Given the description of an element on the screen output the (x, y) to click on. 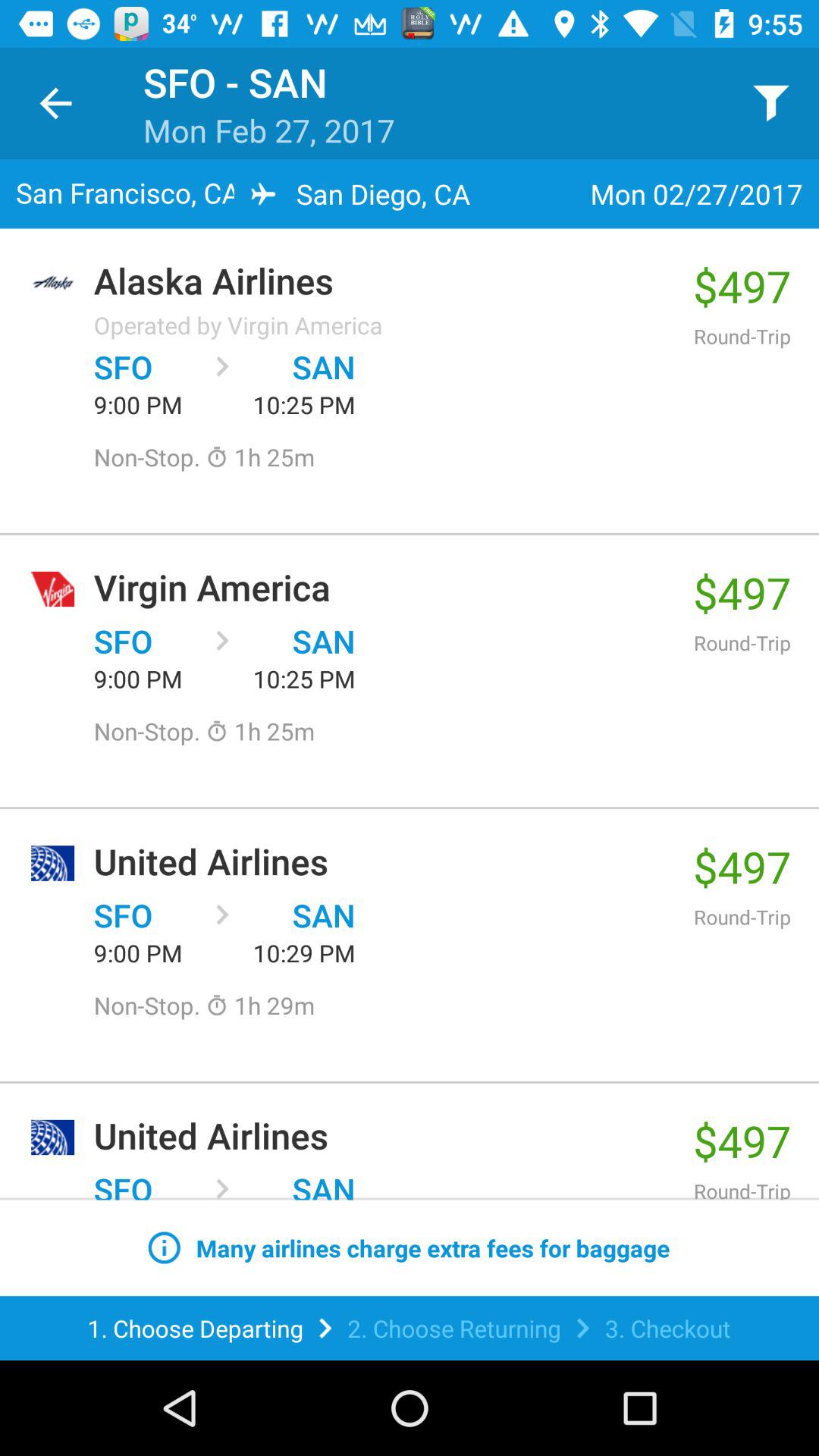
select the item above united airlines (260, 1005)
